Given the description of an element on the screen output the (x, y) to click on. 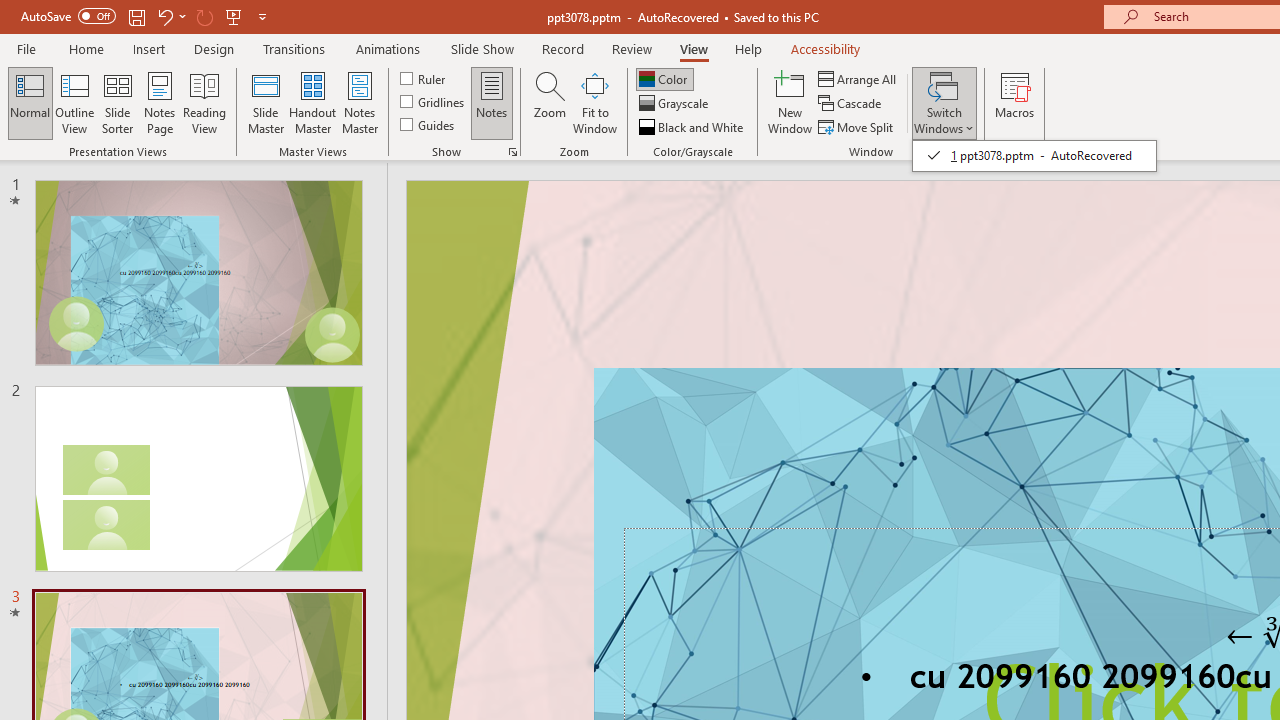
Grayscale (675, 103)
Notes (492, 102)
Notes Page (159, 102)
Move Split (857, 126)
Cascade (851, 103)
Fit to Window (594, 102)
Zoom... (549, 102)
Switch Windows (1034, 155)
Notes Master (360, 102)
